Given the description of an element on the screen output the (x, y) to click on. 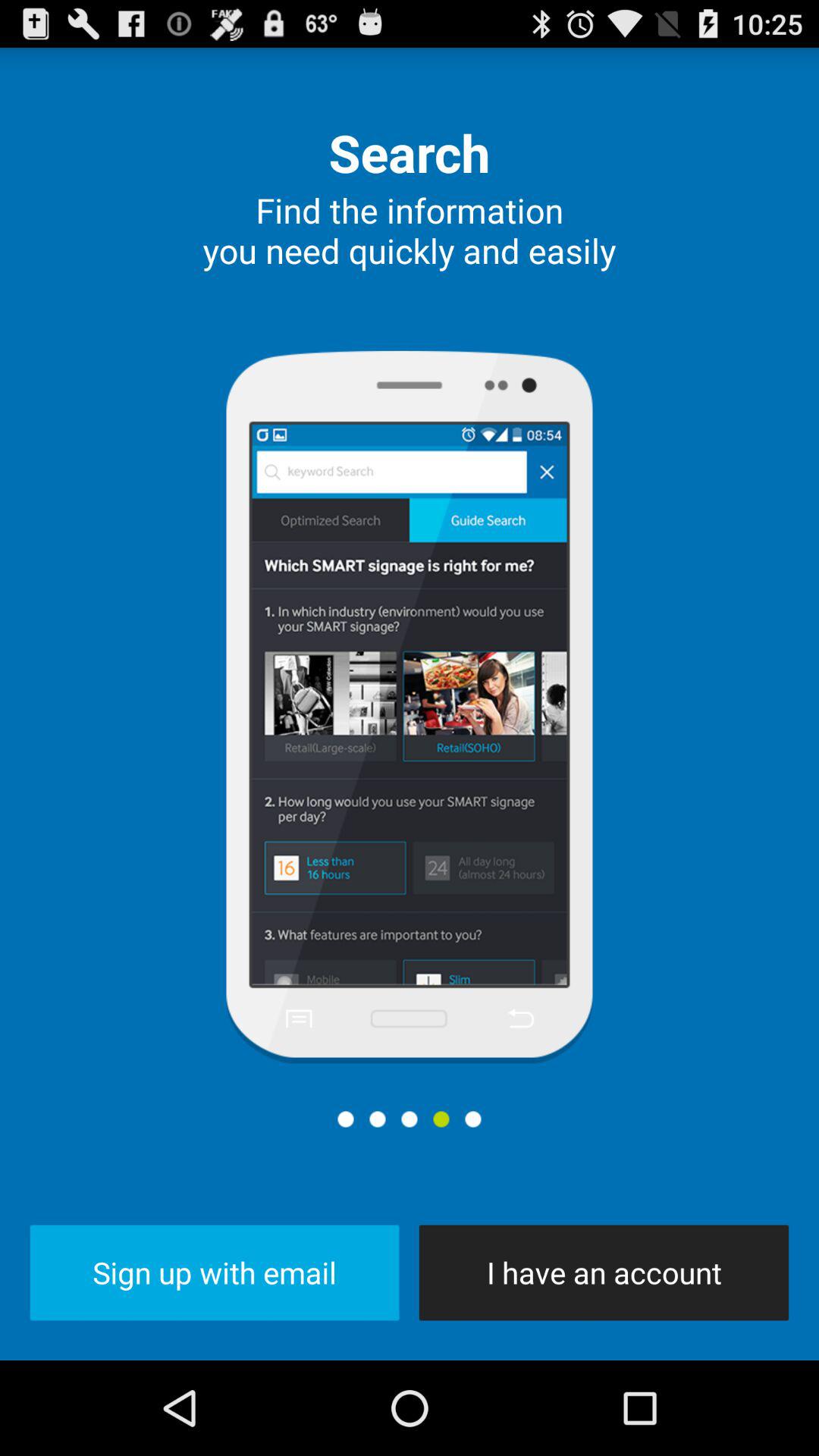
launch sign up with icon (214, 1272)
